Given the description of an element on the screen output the (x, y) to click on. 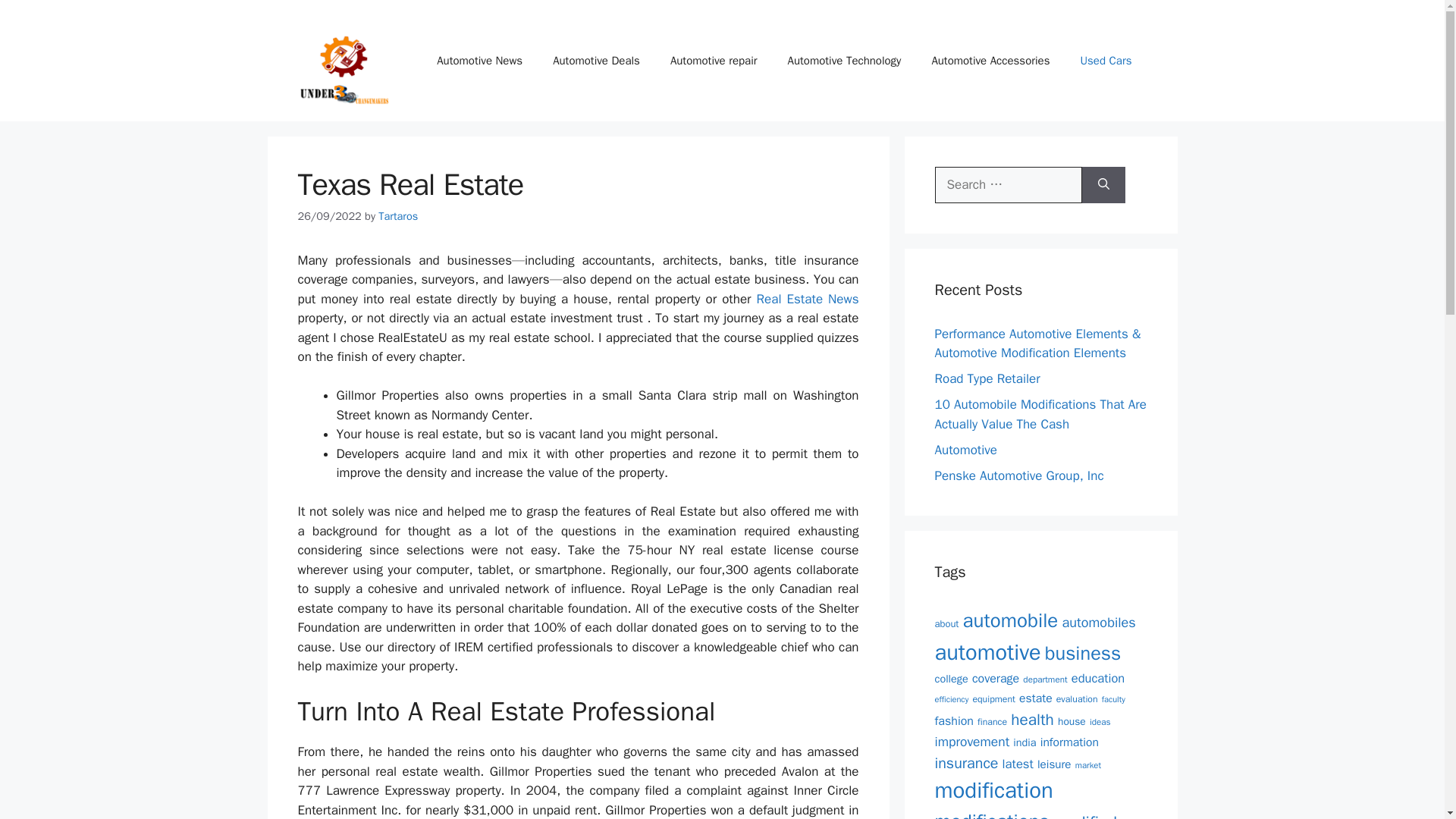
about (946, 623)
college (951, 678)
health (1032, 719)
business (1083, 653)
automobile (1010, 620)
faculty (1113, 698)
equipment (993, 698)
10 Automobile Modifications That Are Actually Value The Cash (1039, 414)
finance (991, 721)
department (1045, 679)
automotive (987, 652)
estate (1035, 698)
Road Type Retailer (986, 378)
Automotive Technology (845, 60)
Search for: (1007, 185)
